Given the description of an element on the screen output the (x, y) to click on. 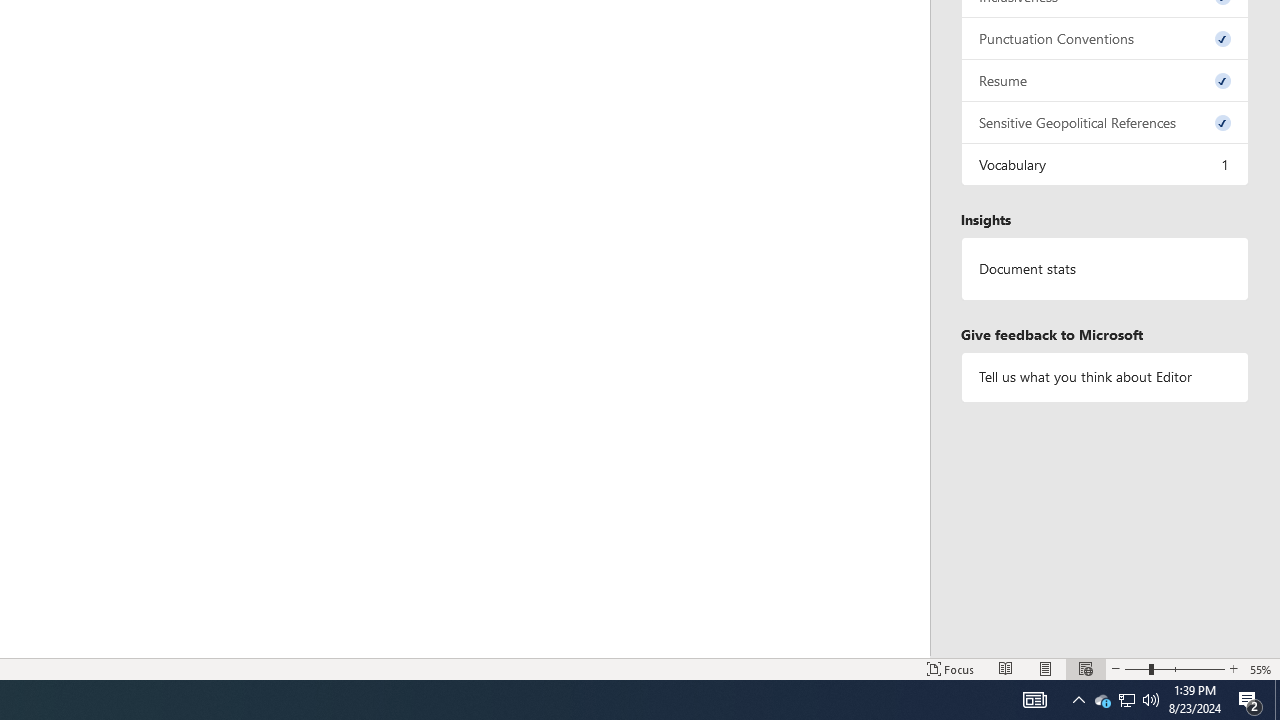
Vocabulary, 1 issue. Press space or enter to review items. (1105, 164)
Zoom (1174, 668)
Read Mode (1005, 668)
Tell us what you think about Editor (1105, 376)
Q2790: 100% (1151, 699)
Resume, 0 issues. Press space or enter to review items. (1105, 79)
Web Layout (1085, 668)
Zoom Out (1137, 668)
